Given the description of an element on the screen output the (x, y) to click on. 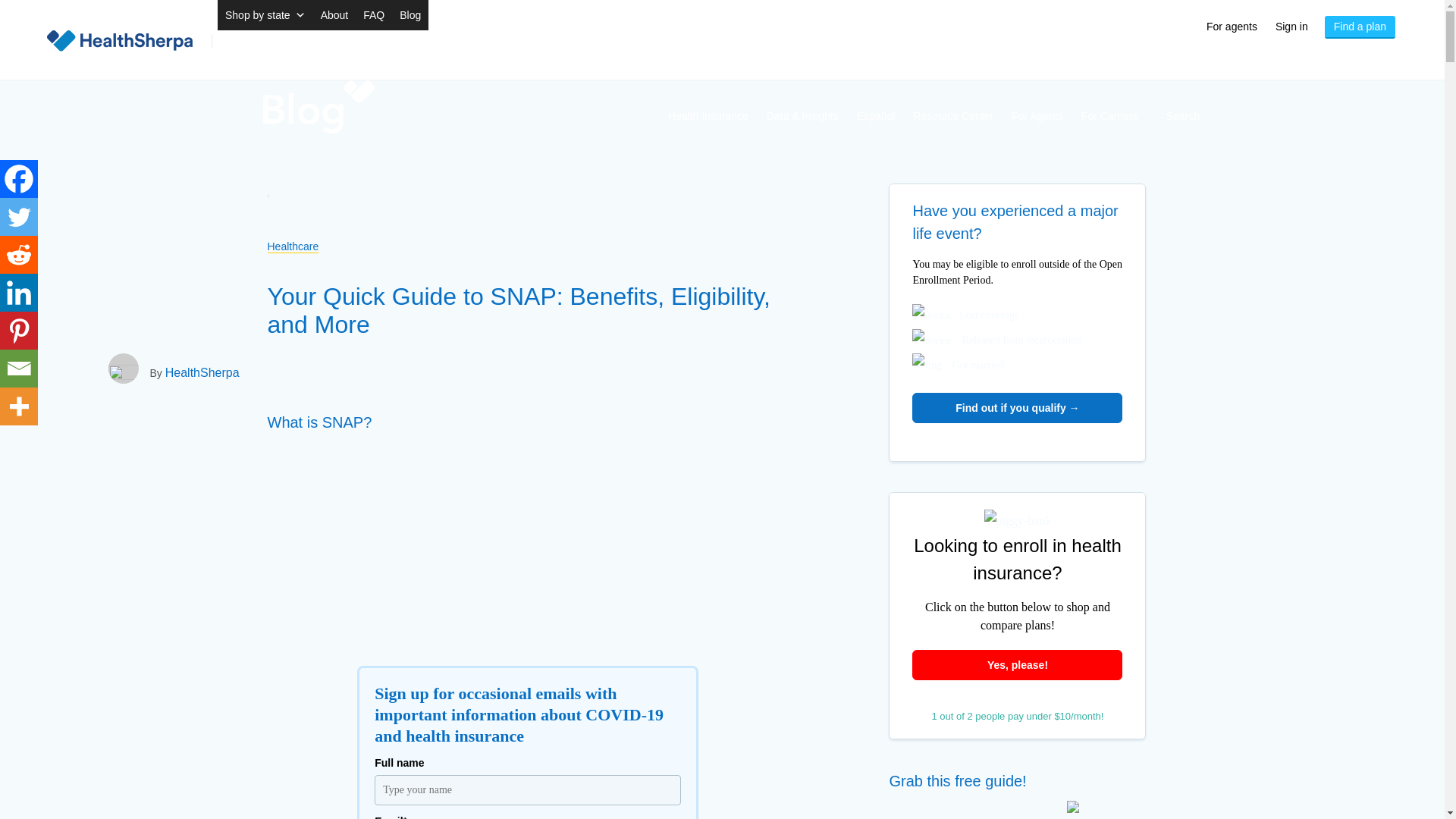
blog-logo (318, 90)
Twitter (18, 216)
Email (18, 368)
Search (44, 15)
Linkedin (18, 292)
Facebook (18, 178)
Reddit (18, 254)
Pinterest (18, 330)
More (18, 406)
